Given the description of an element on the screen output the (x, y) to click on. 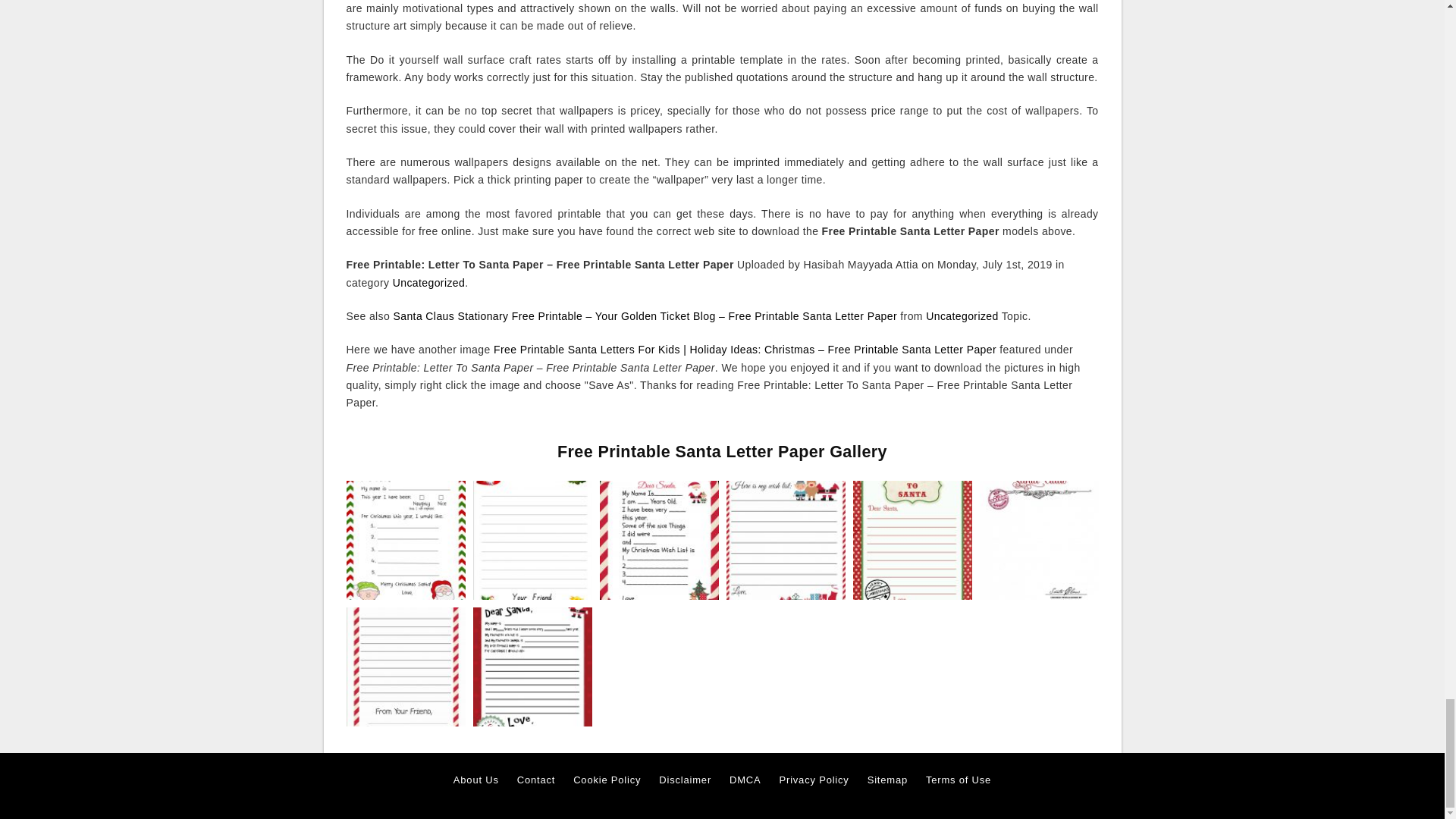
Uncategorized (428, 282)
DMCA (744, 780)
Sitemap (887, 780)
Contact (535, 780)
Disclaimer (685, 780)
Uncategorized (961, 316)
Cookie Policy (606, 780)
Privacy Policy (813, 780)
About Us (475, 780)
